Given the description of an element on the screen output the (x, y) to click on. 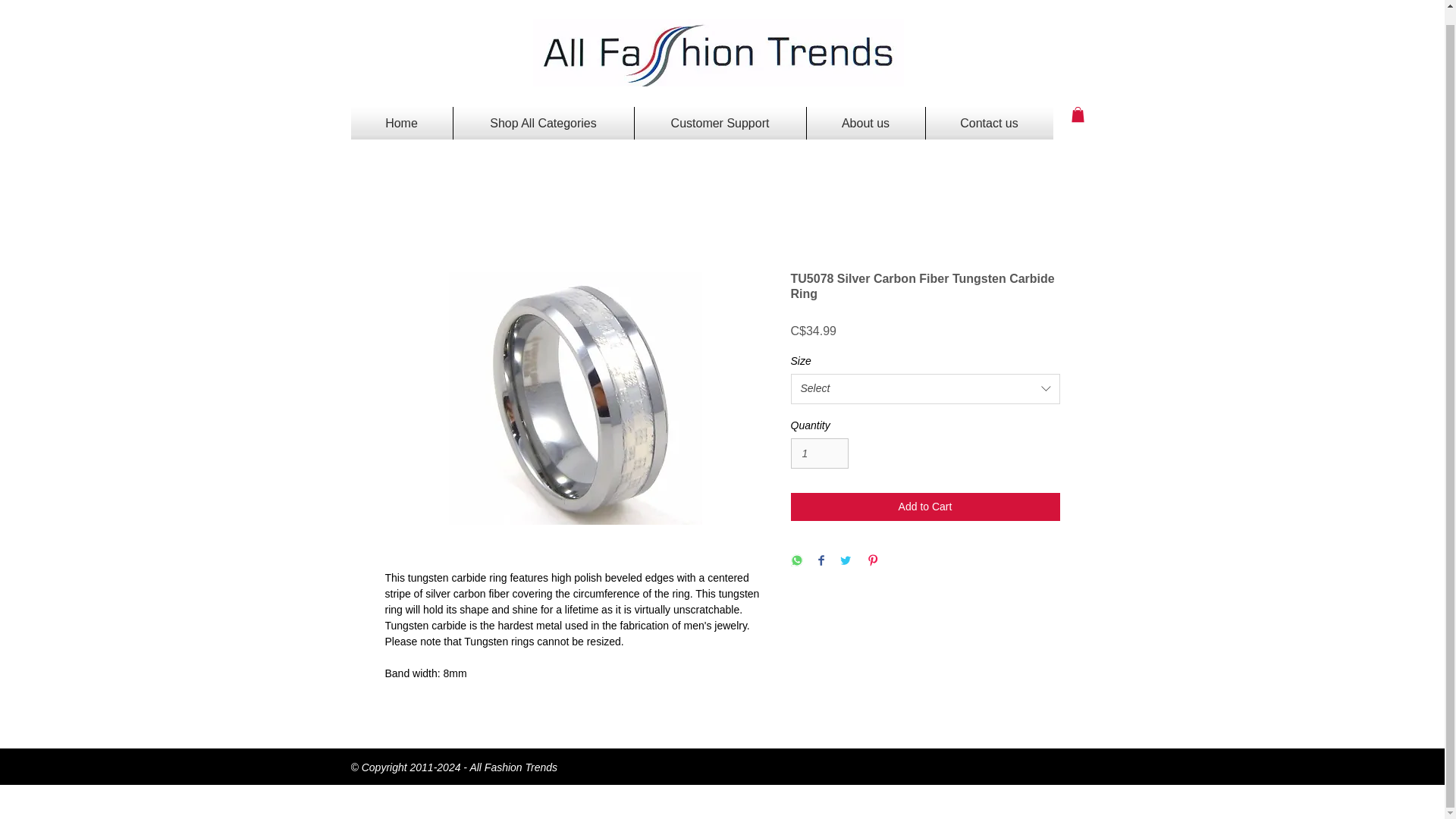
Customer Support (719, 123)
About us (865, 123)
Shop All Categories (542, 123)
Select (924, 388)
1 (818, 453)
Add to Cart (924, 506)
Contact us (988, 123)
Home (400, 123)
